Given the description of an element on the screen output the (x, y) to click on. 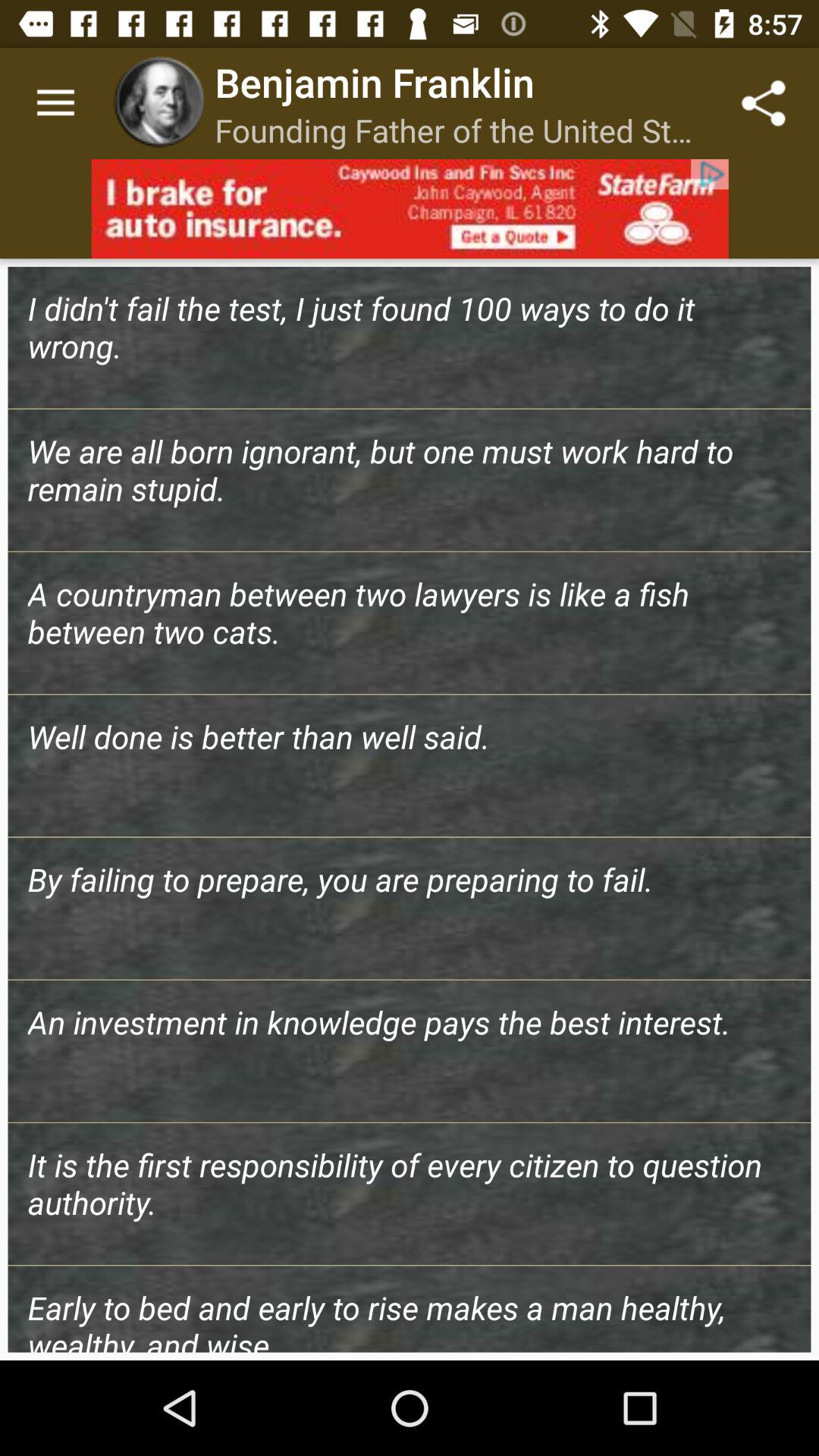
click on the button which is next to the benjamin franklin (763, 103)
